Given the description of an element on the screen output the (x, y) to click on. 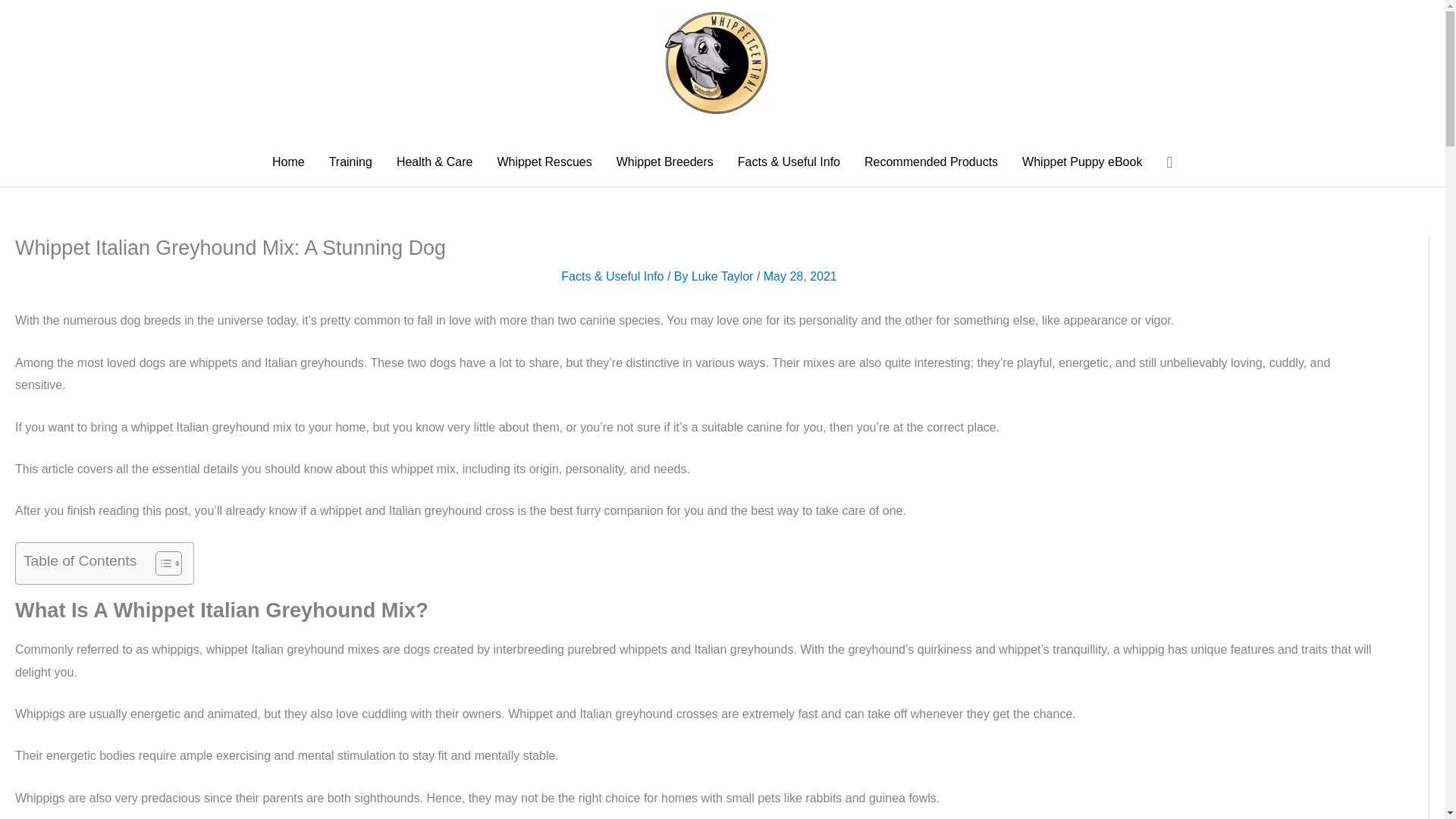
View all posts by Luke Taylor (724, 276)
Training (350, 162)
Home (288, 162)
Whippet Puppy eBook (1082, 162)
Whippet Rescues (544, 162)
Whippet Breeders (664, 162)
Luke Taylor (724, 276)
Recommended Products (930, 162)
